Given the description of an element on the screen output the (x, y) to click on. 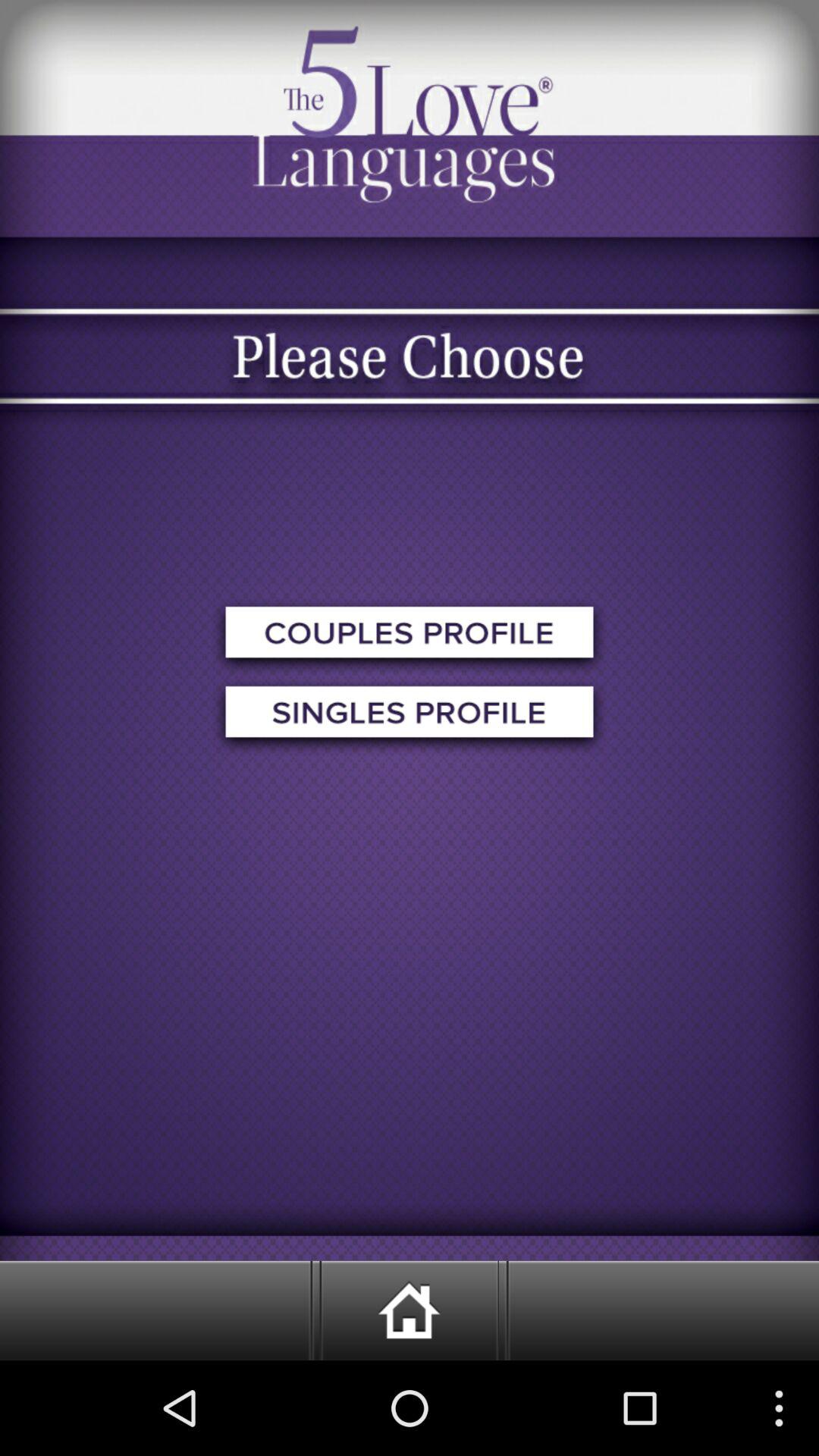
open page (409, 716)
